Given the description of an element on the screen output the (x, y) to click on. 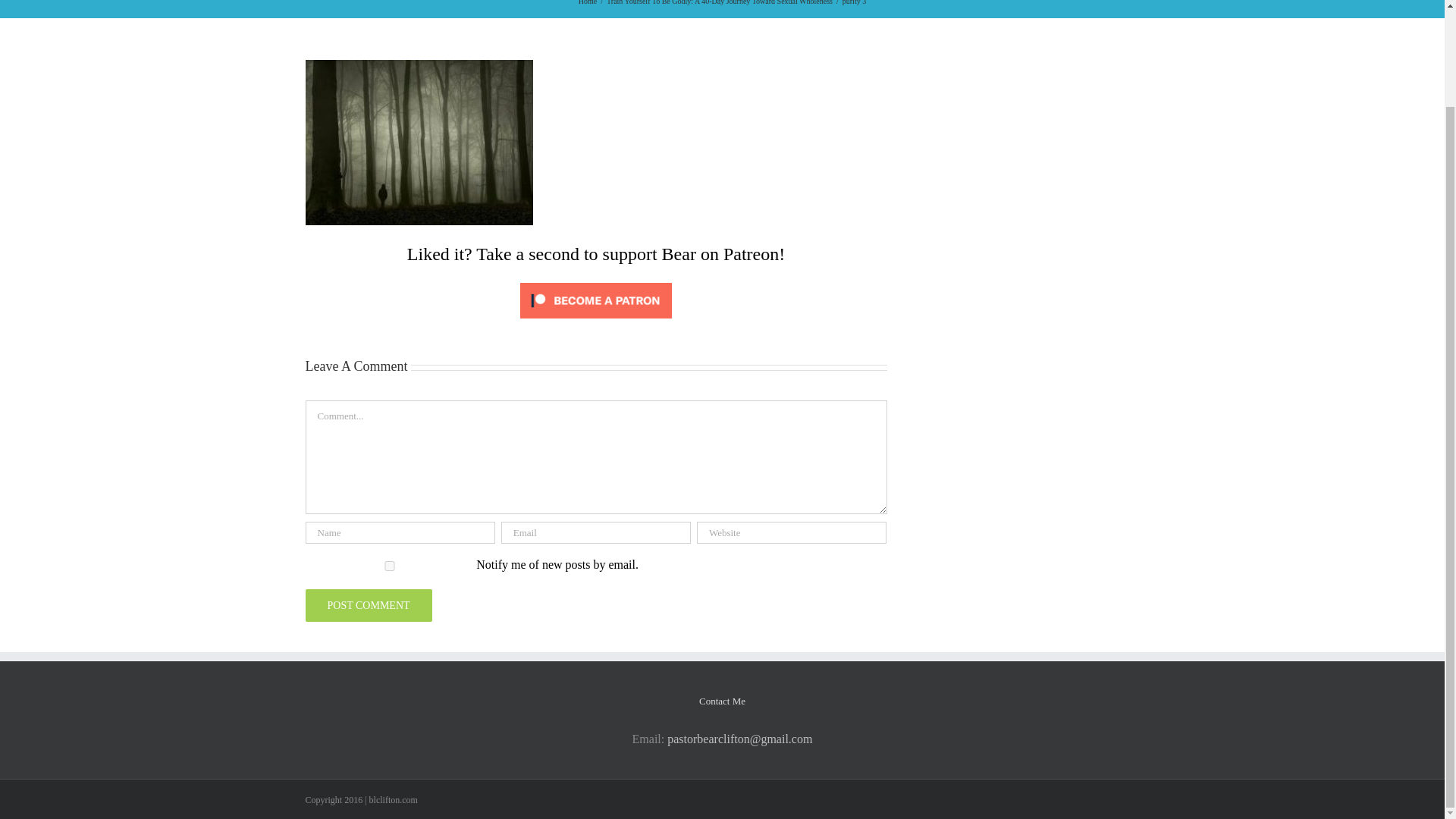
Home (587, 2)
Post Comment (367, 604)
subscribe (388, 565)
Post Comment (367, 604)
